Given the description of an element on the screen output the (x, y) to click on. 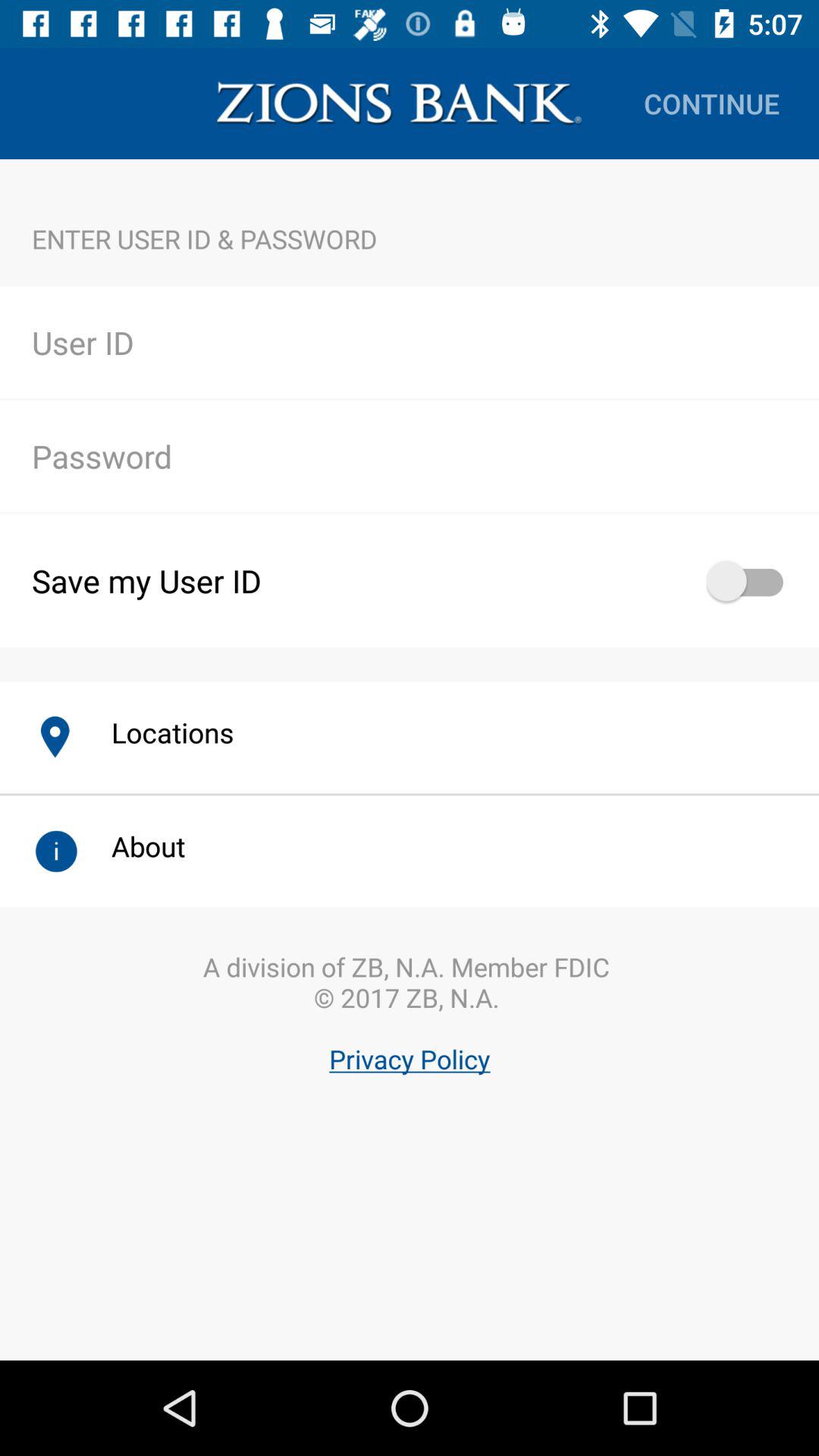
choose item above enter user id item (711, 103)
